Given the description of an element on the screen output the (x, y) to click on. 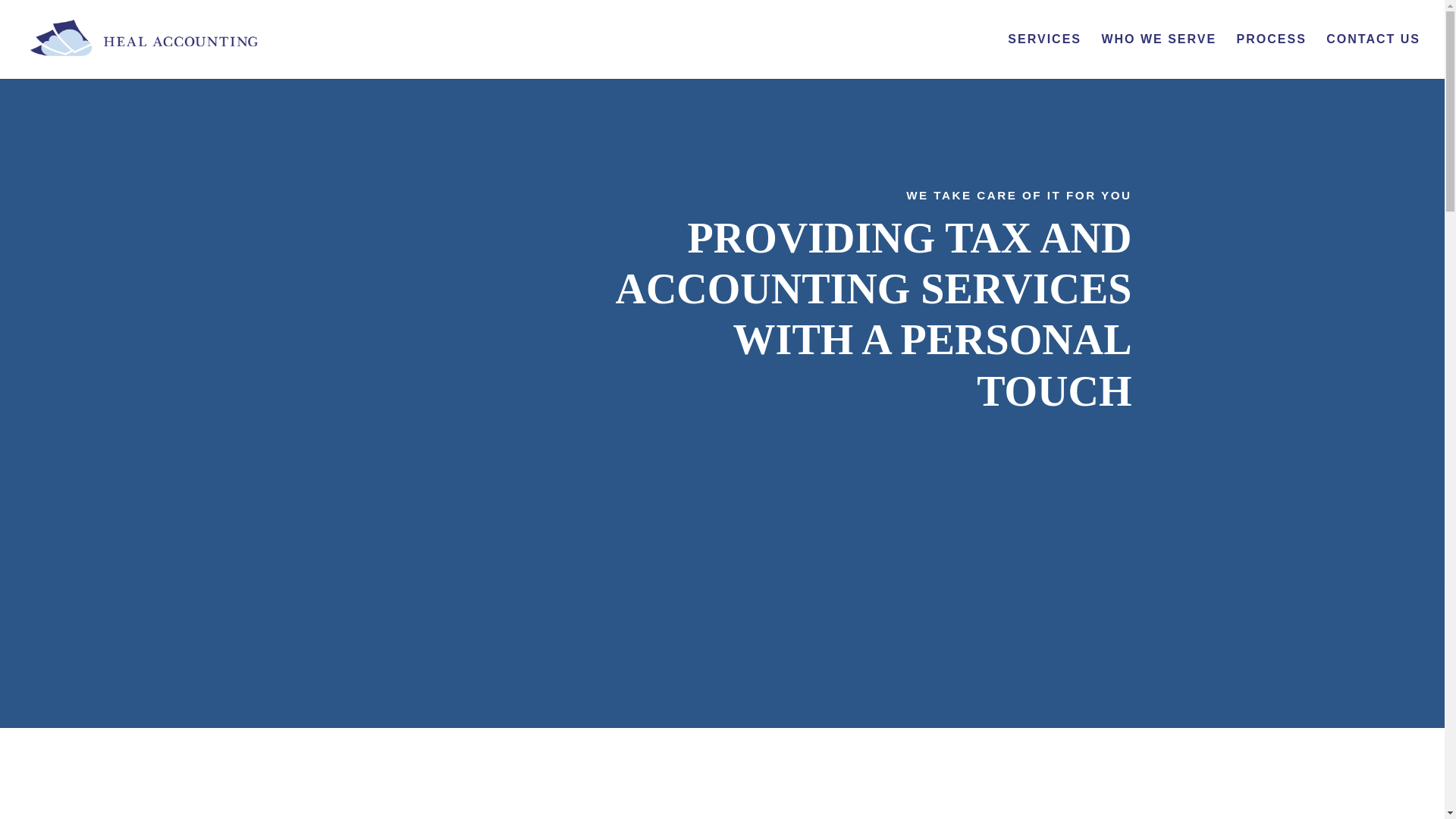
PROCESS (1271, 56)
SERVICES (1044, 56)
CONTACT US (1373, 56)
WHO WE SERVE (1157, 56)
